Given the description of an element on the screen output the (x, y) to click on. 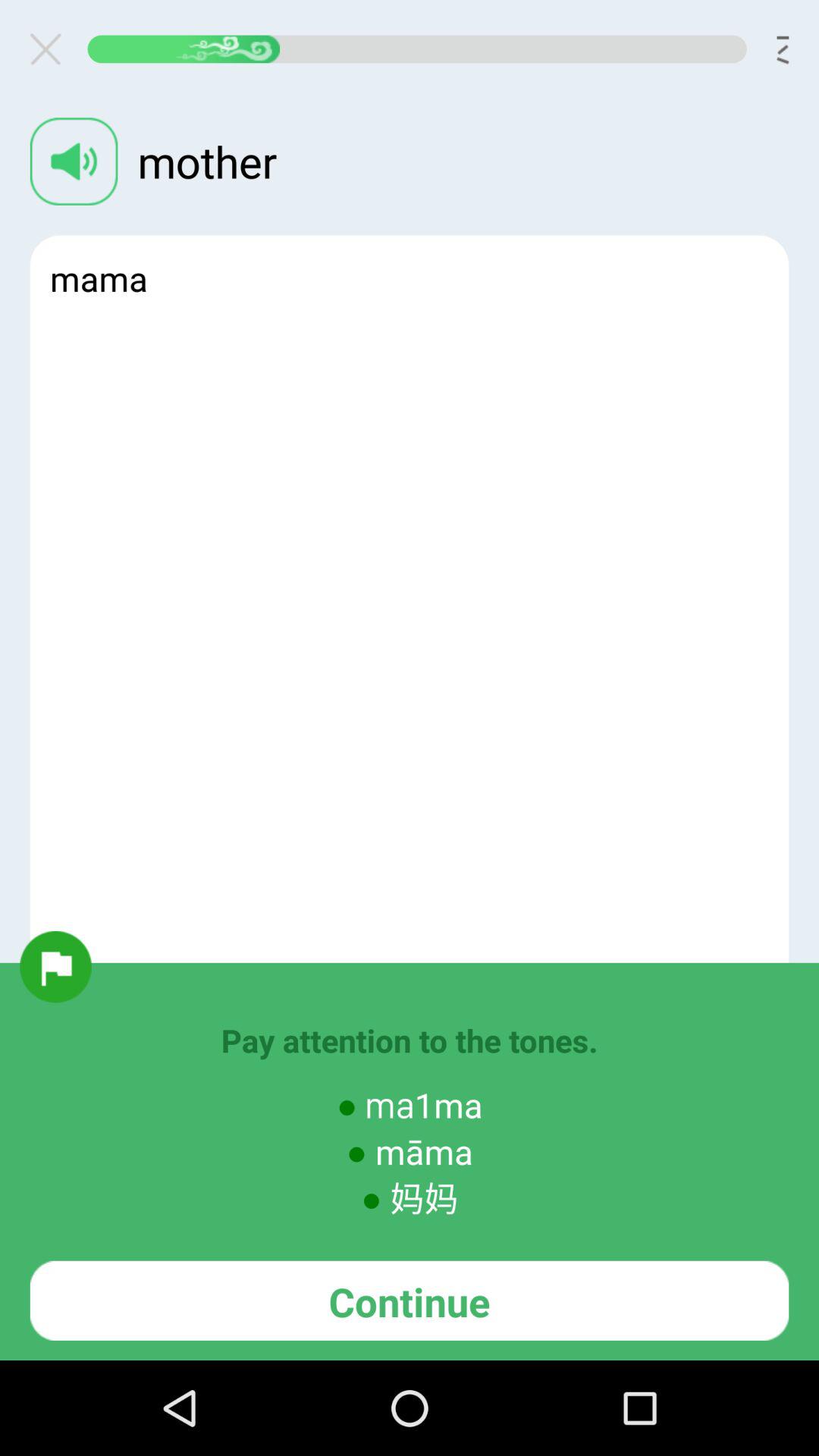
play audio (73, 161)
